Given the description of an element on the screen output the (x, y) to click on. 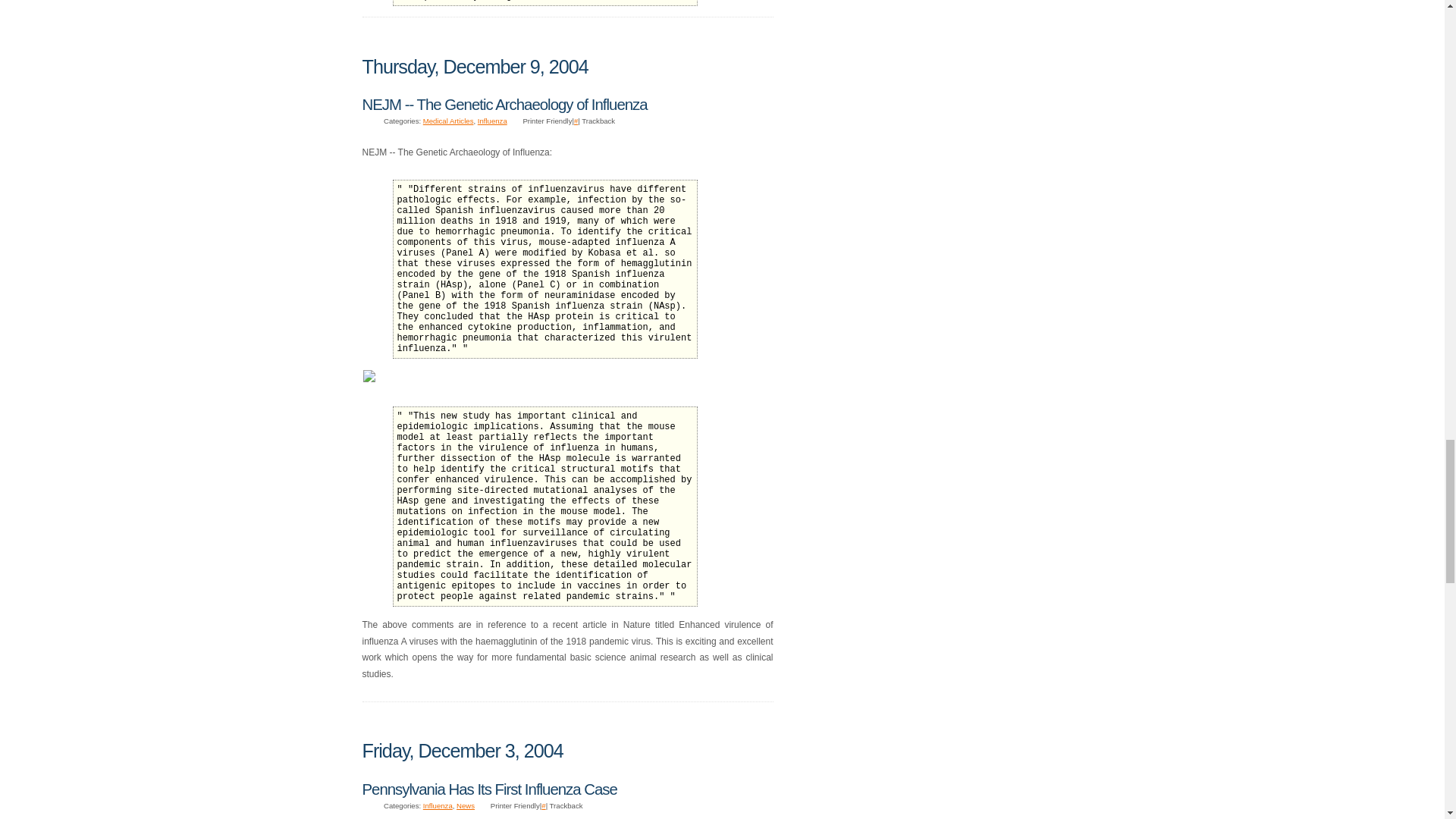
Influenza (437, 805)
News (465, 805)
Medical Articles (448, 121)
Influenza (491, 121)
